Given the description of an element on the screen output the (x, y) to click on. 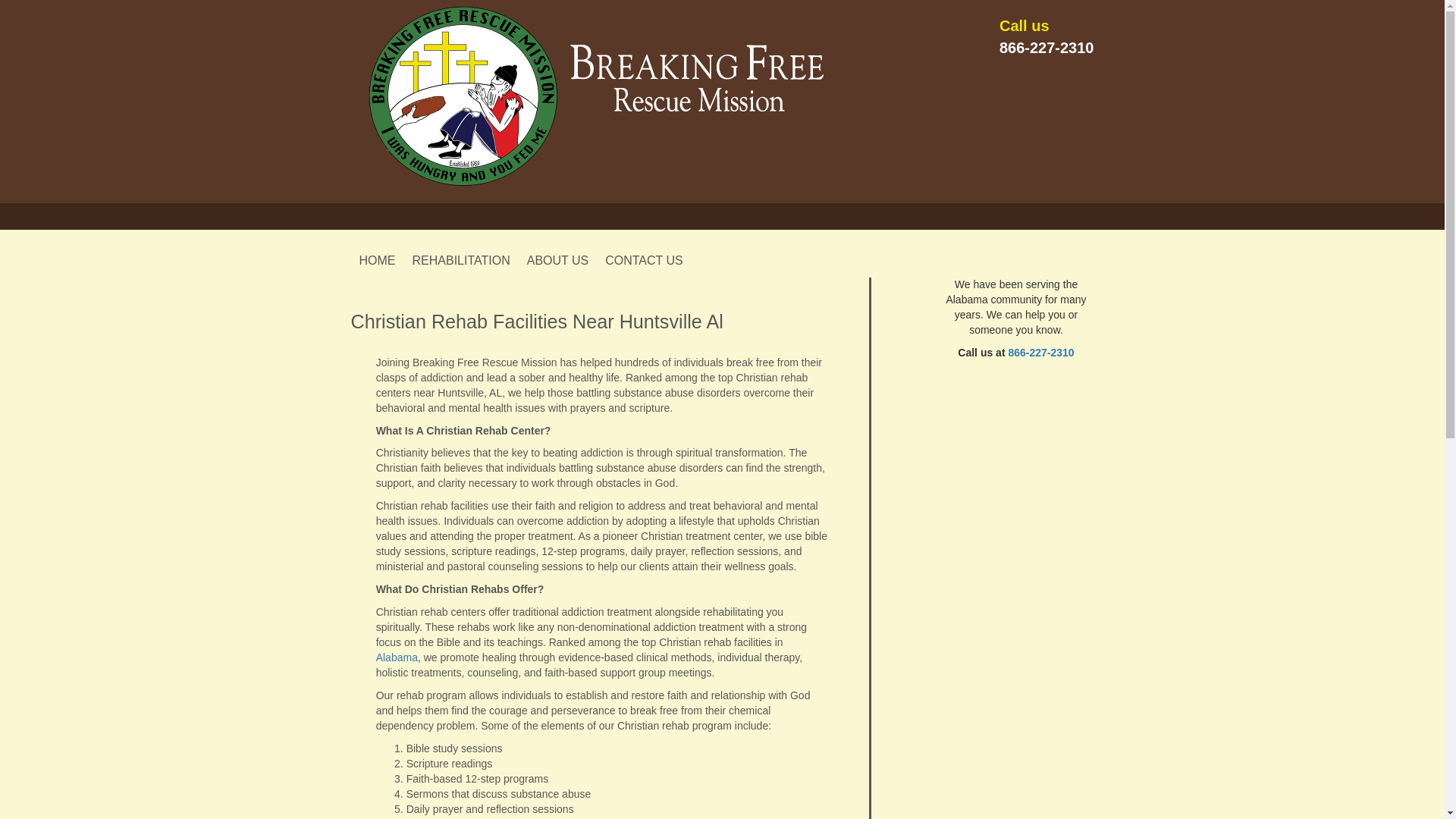
866-227-2310 (1040, 352)
HOME (377, 259)
REHABILITATION (461, 259)
ABOUT US (558, 259)
CONTACT US (643, 259)
Alabama (396, 657)
866-227-2310 (1046, 47)
